Given the description of an element on the screen output the (x, y) to click on. 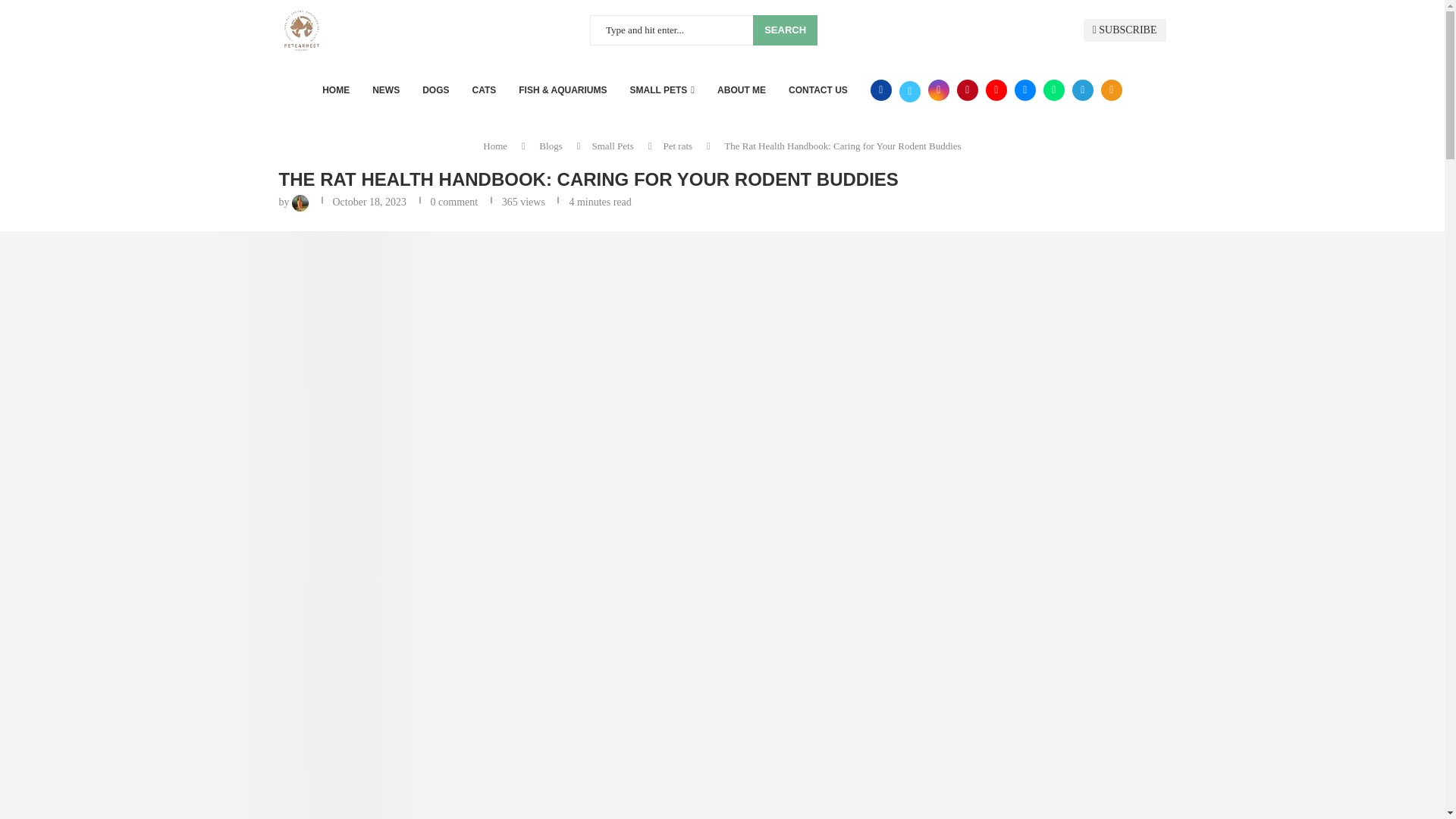
SMALL PETS (662, 89)
SEARCH (784, 30)
SUBSCRIBE (1124, 29)
